Given the description of an element on the screen output the (x, y) to click on. 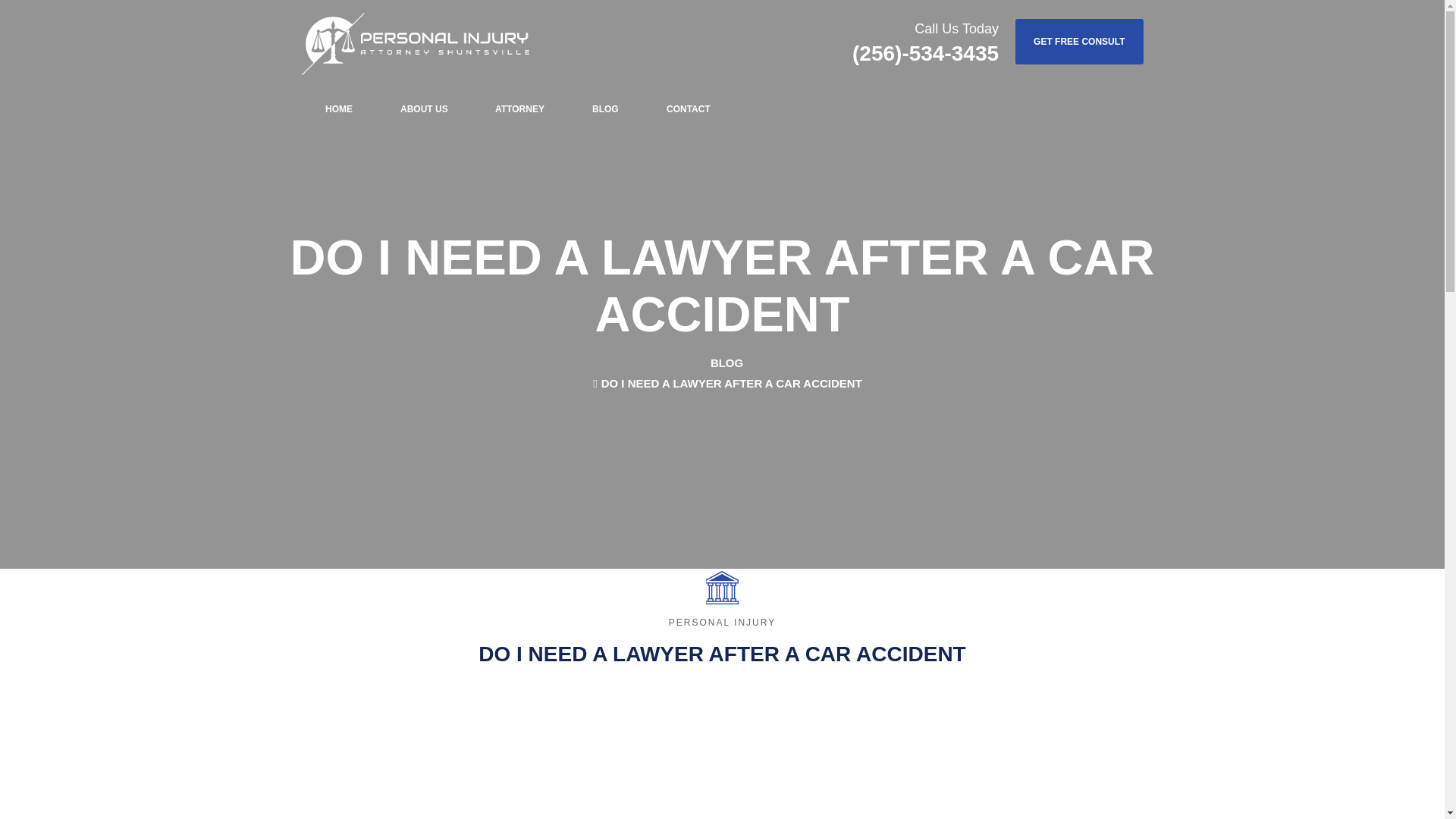
HOME (338, 108)
ABOUT US (422, 108)
GET FREE CONSULT (1078, 41)
BLOG (605, 108)
CONTACT (688, 108)
BLOG (726, 362)
ATTORNEY (519, 108)
